Given the description of an element on the screen output the (x, y) to click on. 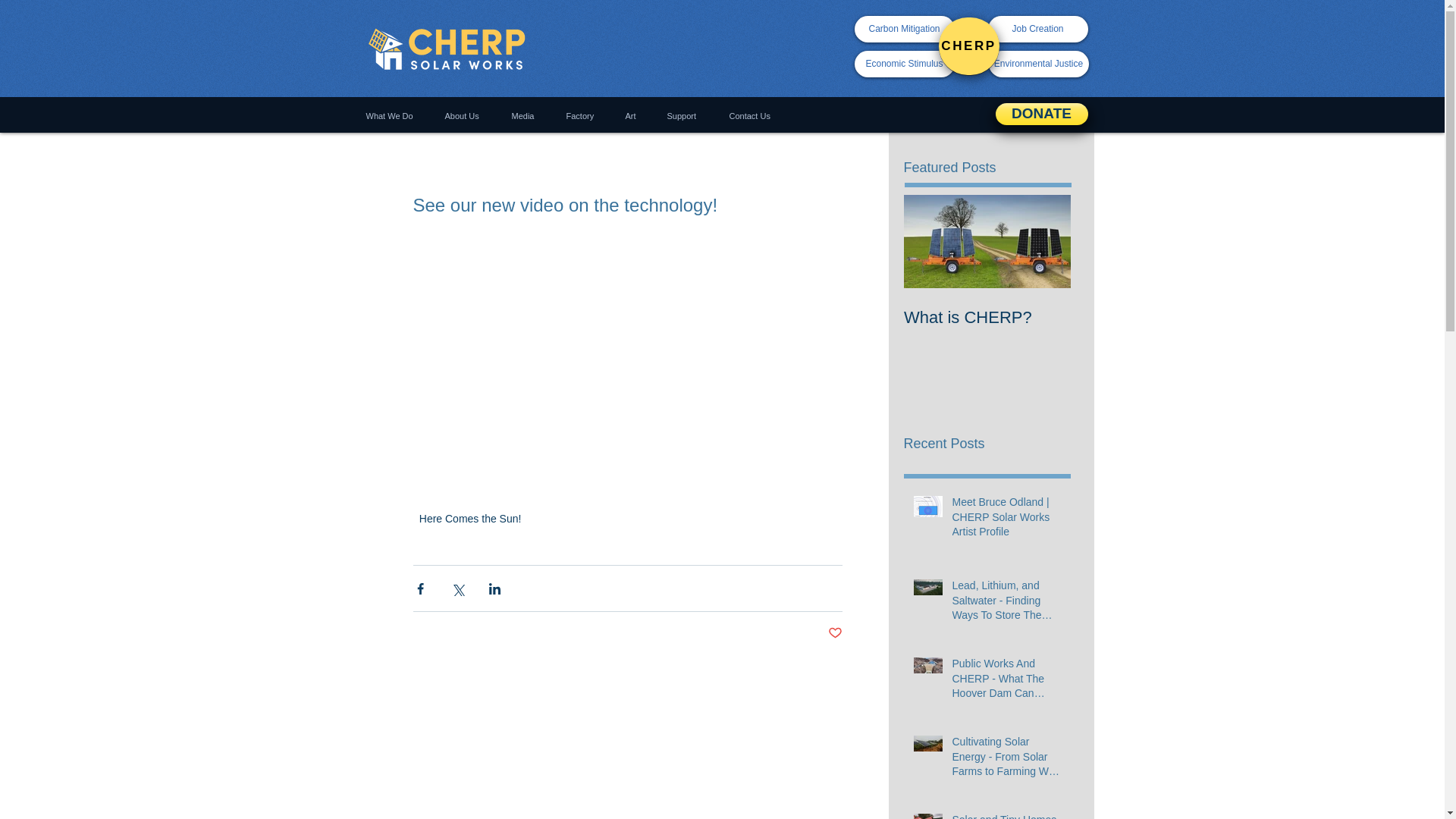
Public Works And CHERP - What The Hoover Dam Can Teach Us (1006, 681)
Post not marked as liked (835, 633)
DONATE (1040, 114)
Environmental Justice (1038, 63)
Job Creation (1037, 28)
CHERP (968, 46)
Economic Stimulus (903, 63)
Carbon Mitigation (903, 28)
Solar and Tiny Homes (1006, 816)
